Given the description of an element on the screen output the (x, y) to click on. 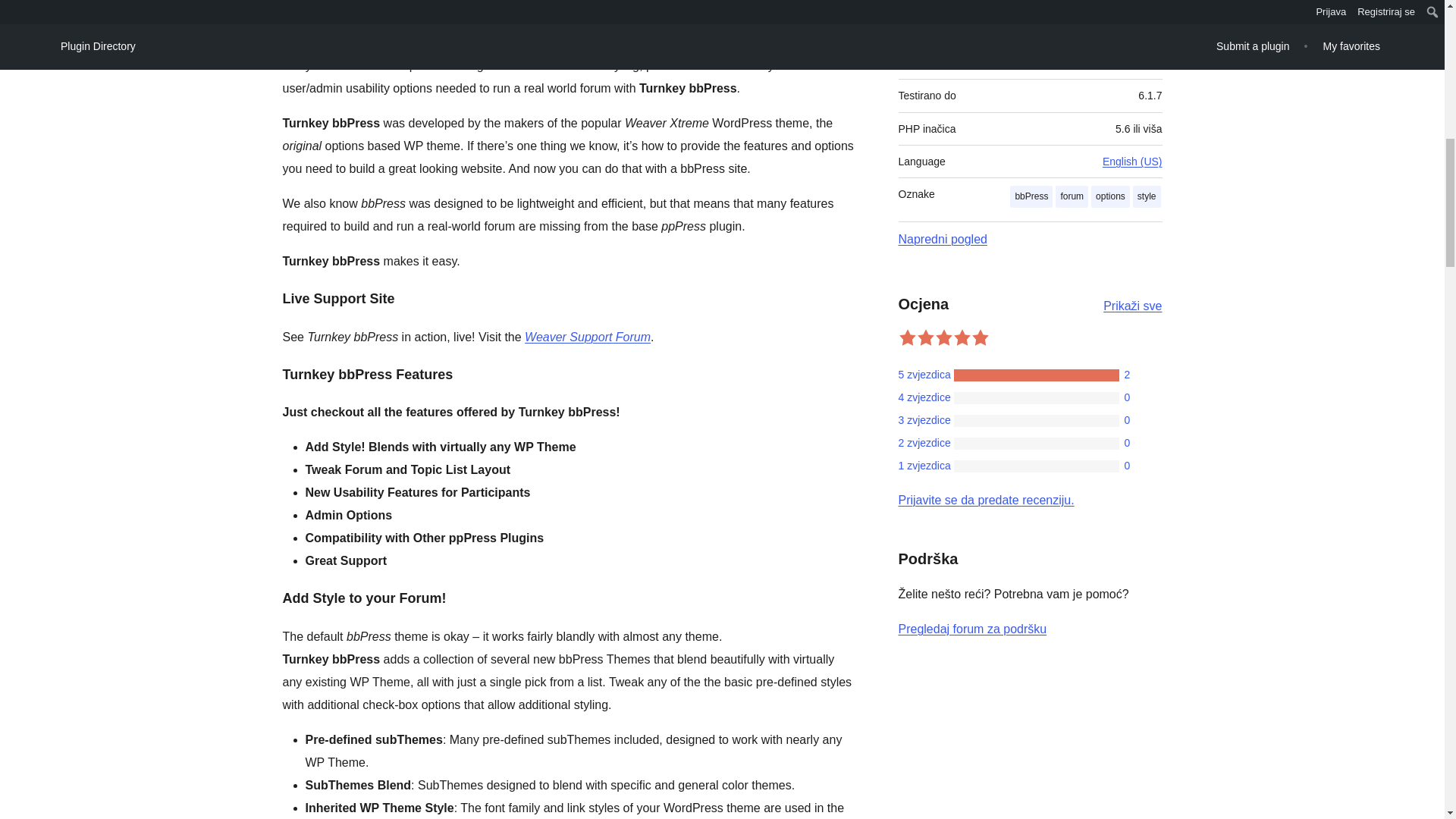
Weaver Support Forum (587, 336)
Prijavite se u WordPress.org (986, 499)
